Given the description of an element on the screen output the (x, y) to click on. 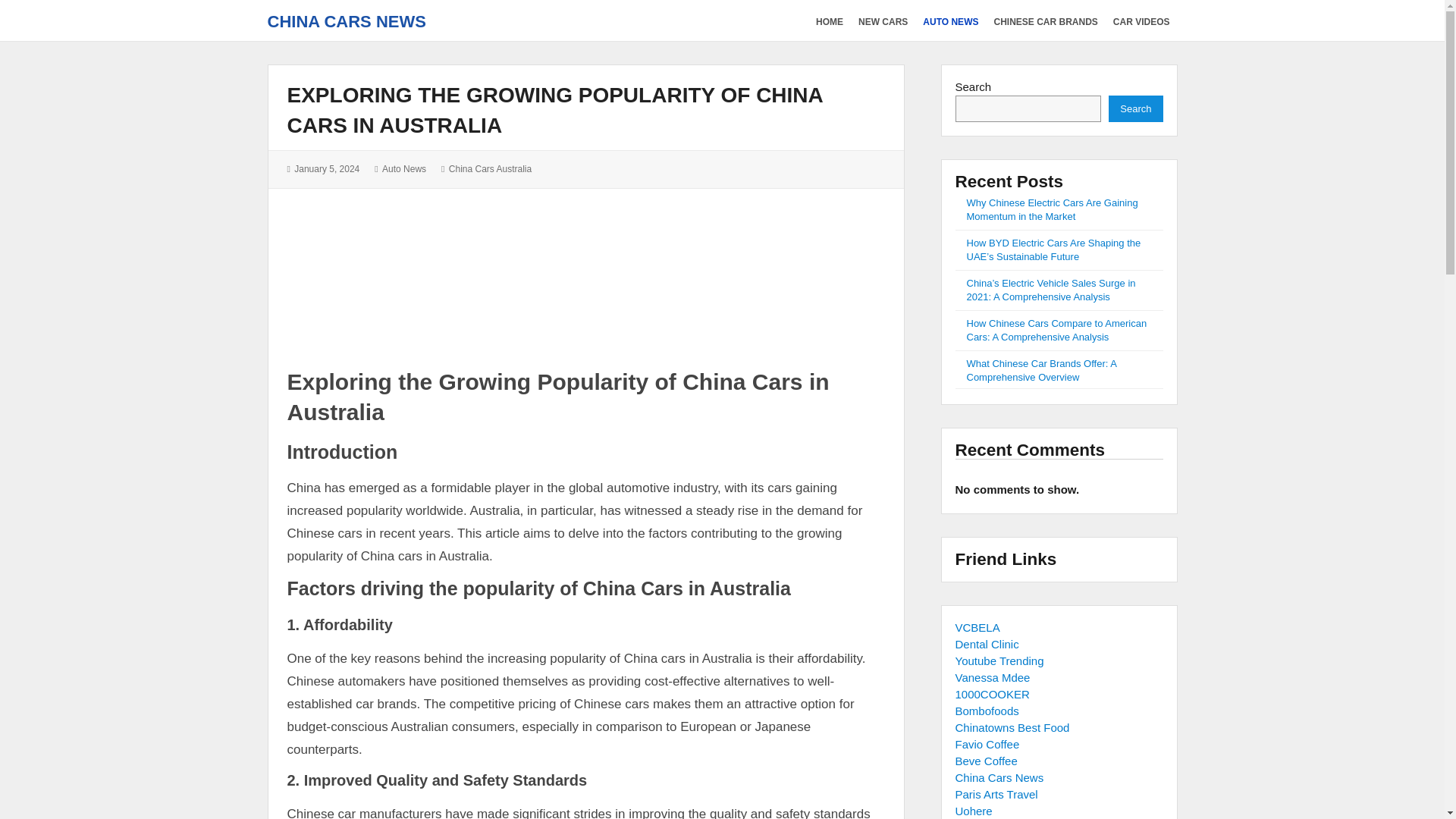
January 5, 2024 (326, 168)
What Chinese Car Brands Offer: A Comprehensive Overview (1041, 370)
CHINA CARS NEWS (345, 21)
Beve Coffee (986, 760)
CAR VIDEOS (1141, 19)
Vanessa Mdee (992, 676)
China Cars News (999, 777)
China Cars Australia (489, 168)
EXPLORING THE GROWING POPULARITY OF CHINA CARS IN AUSTRALIA (554, 110)
CHINESE CAR BRANDS (1044, 19)
Why Chinese Electric Cars Are Gaining Momentum in the Market (1051, 209)
Chinatowns Best Food (1012, 727)
1000COOKER (992, 694)
Search (1134, 108)
Youtube Trending (999, 660)
